Given the description of an element on the screen output the (x, y) to click on. 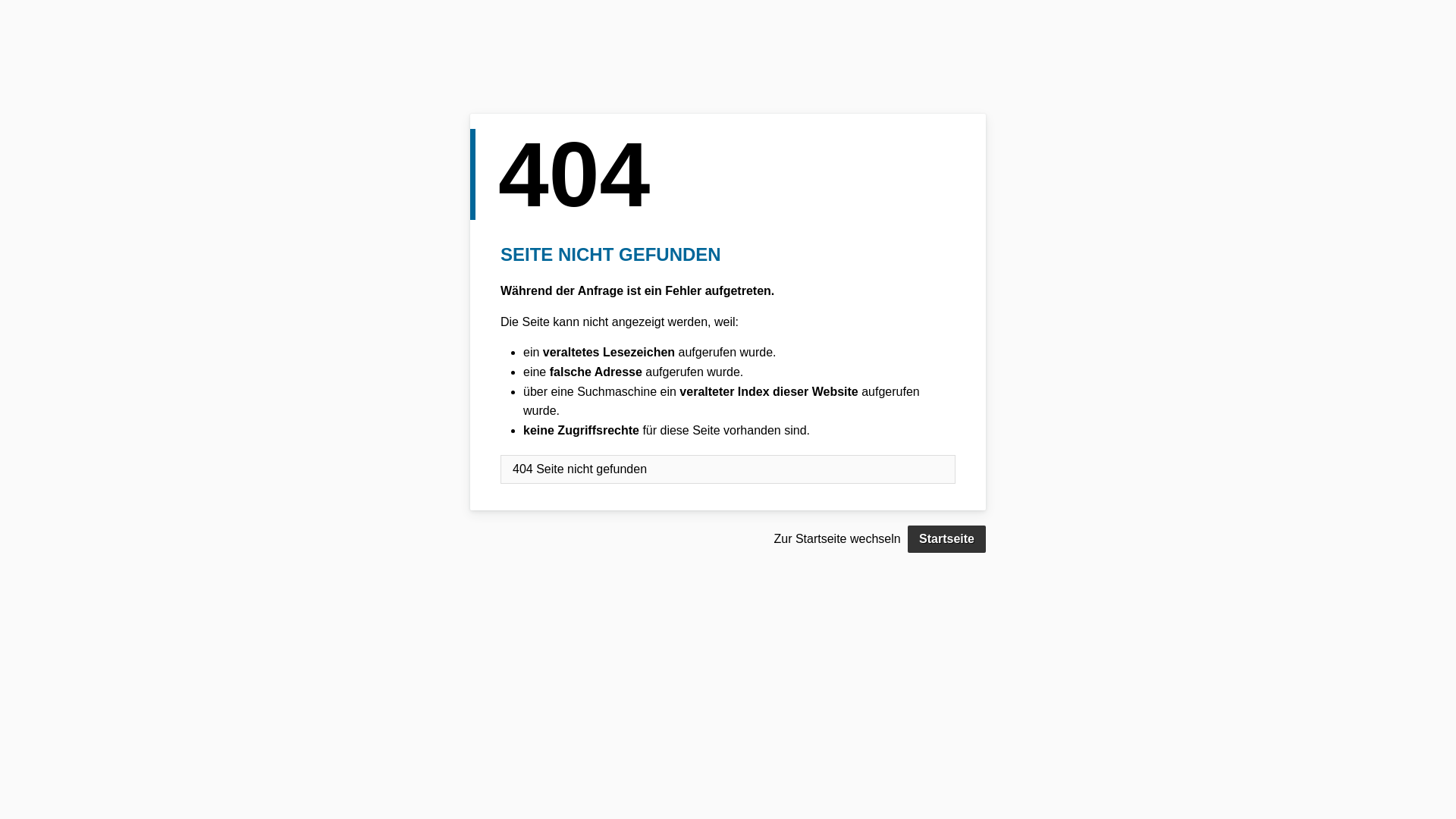
Startseite Element type: text (946, 538)
